Given the description of an element on the screen output the (x, y) to click on. 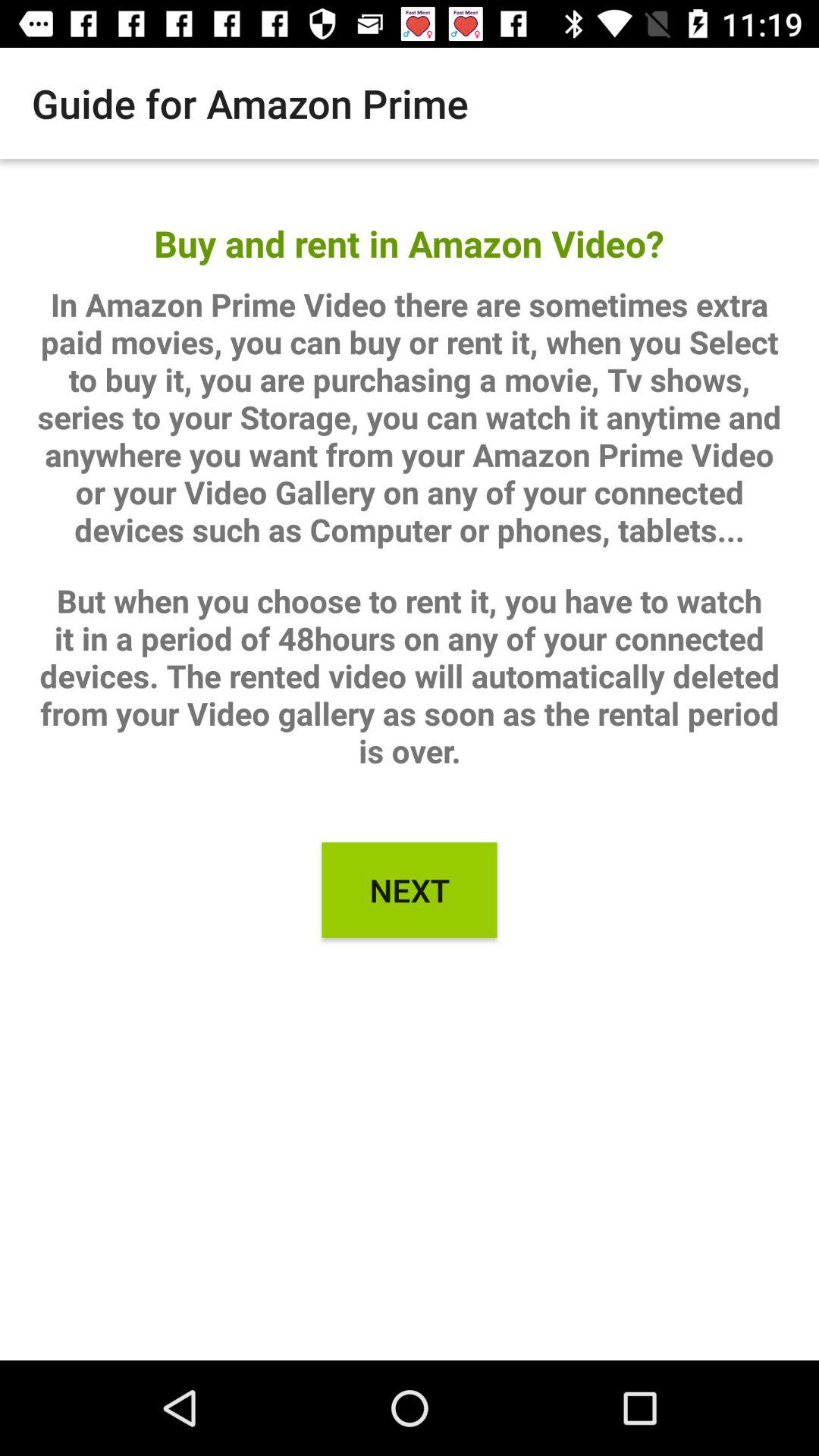
click next icon (409, 889)
